Given the description of an element on the screen output the (x, y) to click on. 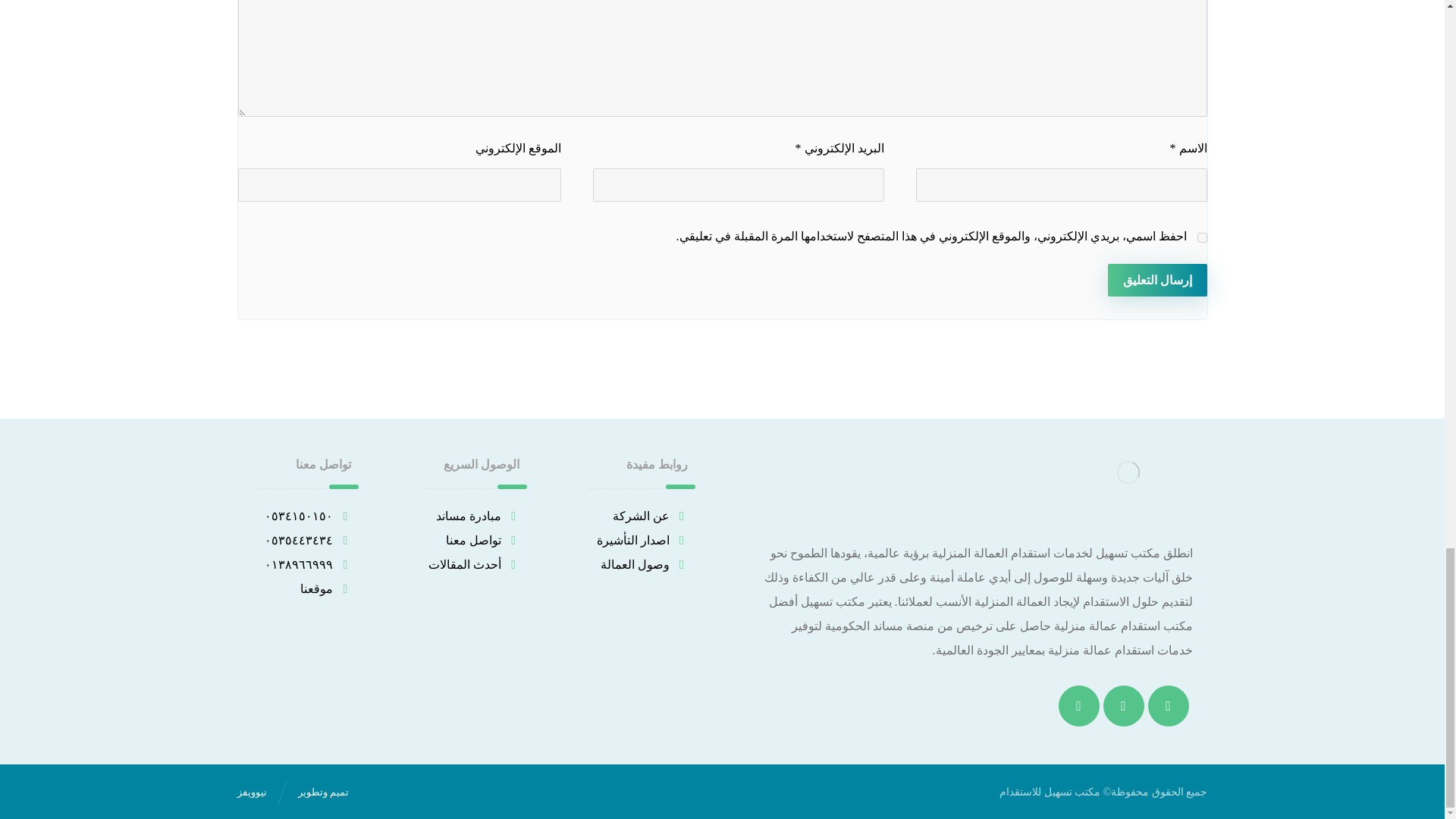
yes (1201, 237)
